Given the description of an element on the screen output the (x, y) to click on. 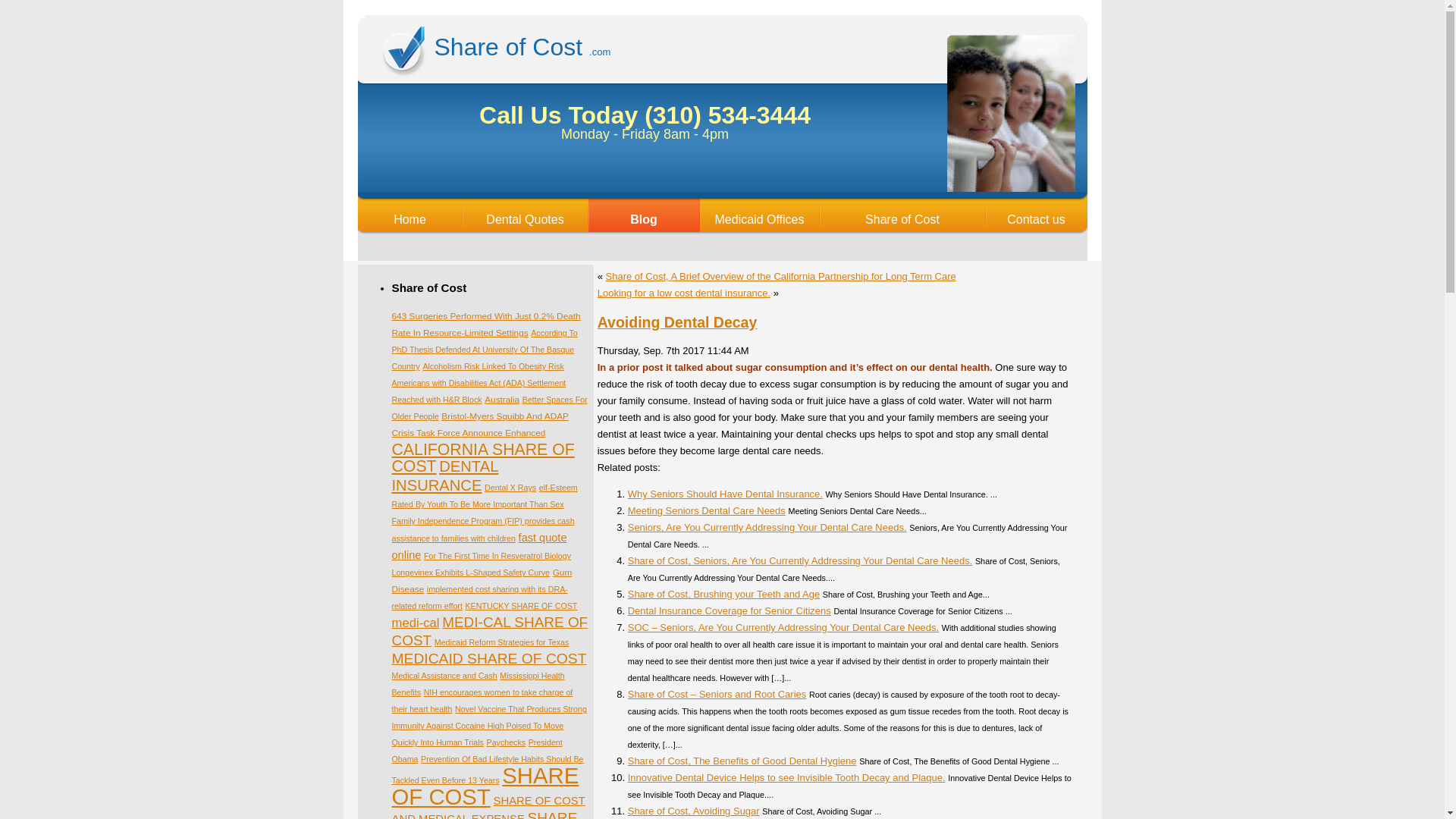
Share of Cost, Avoiding Sugar (693, 810)
SHARE OF COST (484, 785)
Home (410, 218)
Medical Assistance and Cash (443, 675)
NIH encourages women to take charge of their heart health (481, 700)
Share of Cost, Brushing your Teeth and Age (723, 593)
Gum Disease (481, 580)
